Given the description of an element on the screen output the (x, y) to click on. 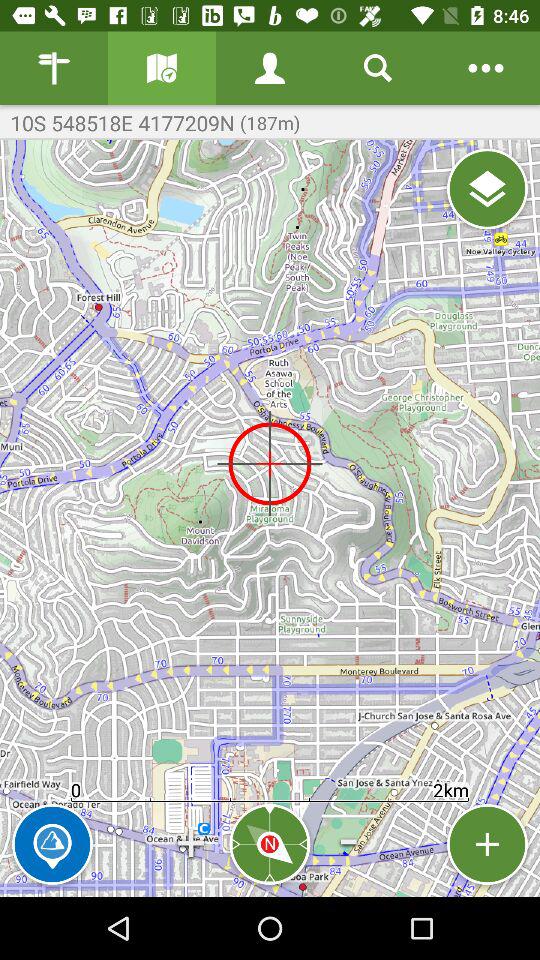
adjust the size (487, 844)
